Given the description of an element on the screen output the (x, y) to click on. 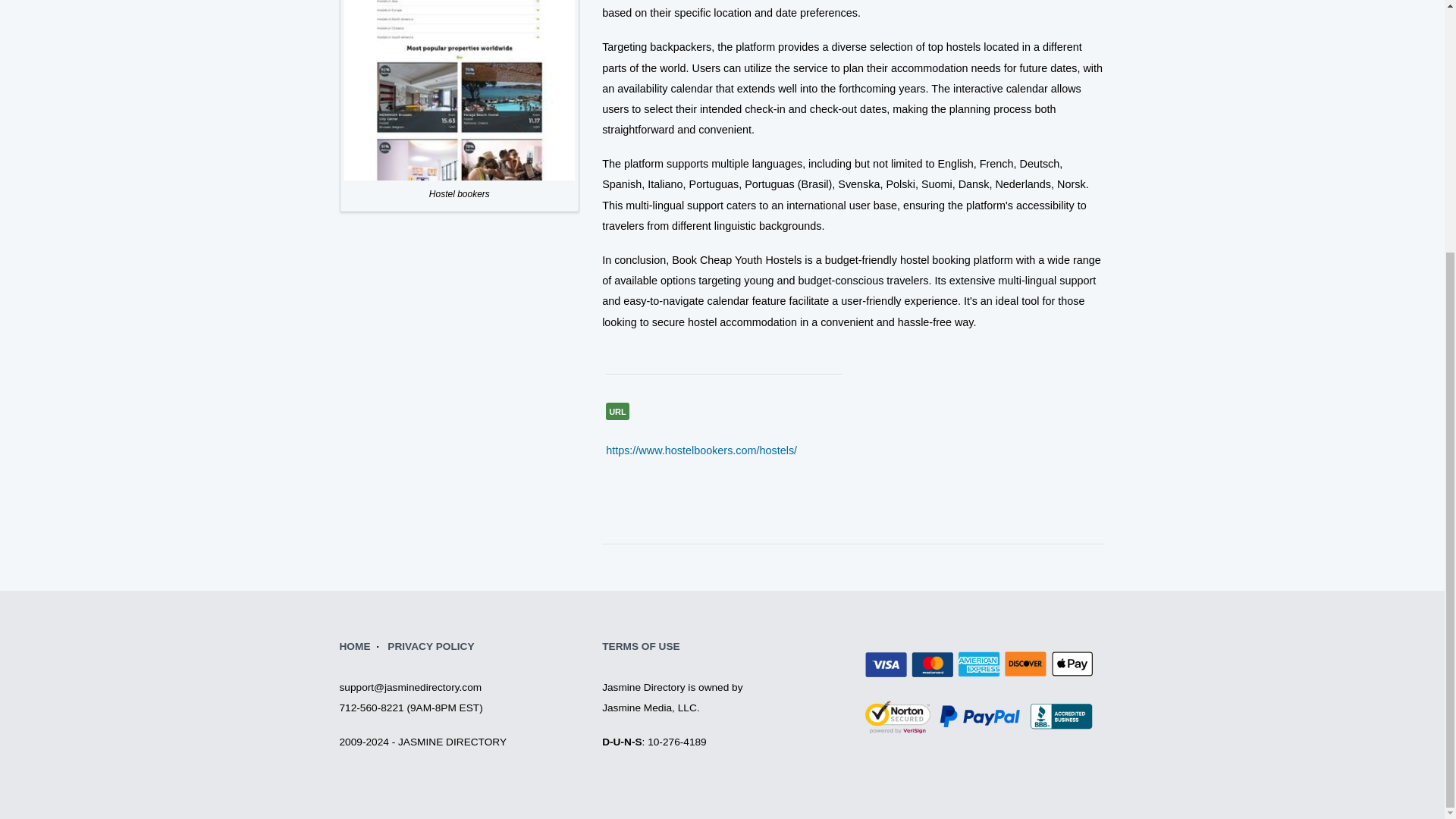
TERMS OF USE (640, 645)
BUSINESS WEB DIRECTORY (355, 645)
PRIVACY POLICY (430, 645)
HOME (355, 645)
